Given the description of an element on the screen output the (x, y) to click on. 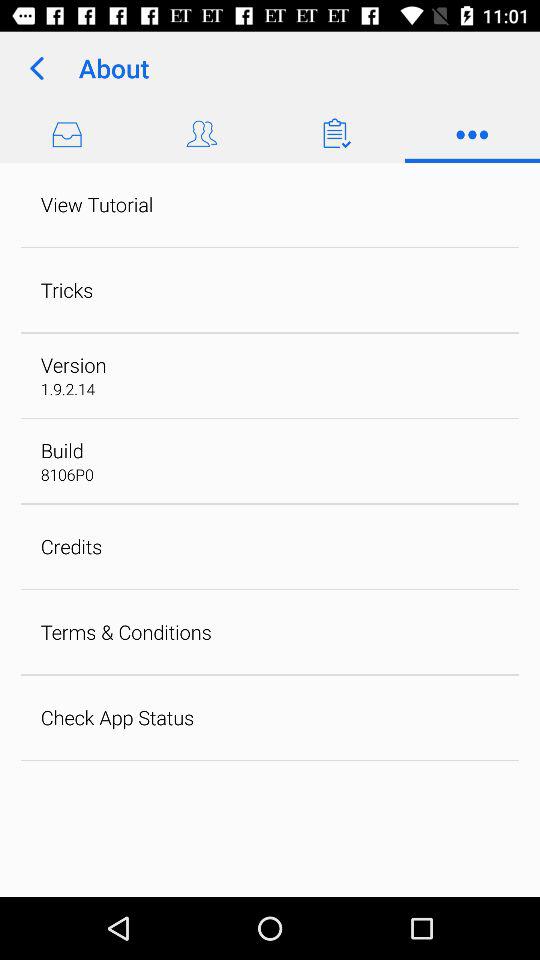
launch app above build app (67, 388)
